Given the description of an element on the screen output the (x, y) to click on. 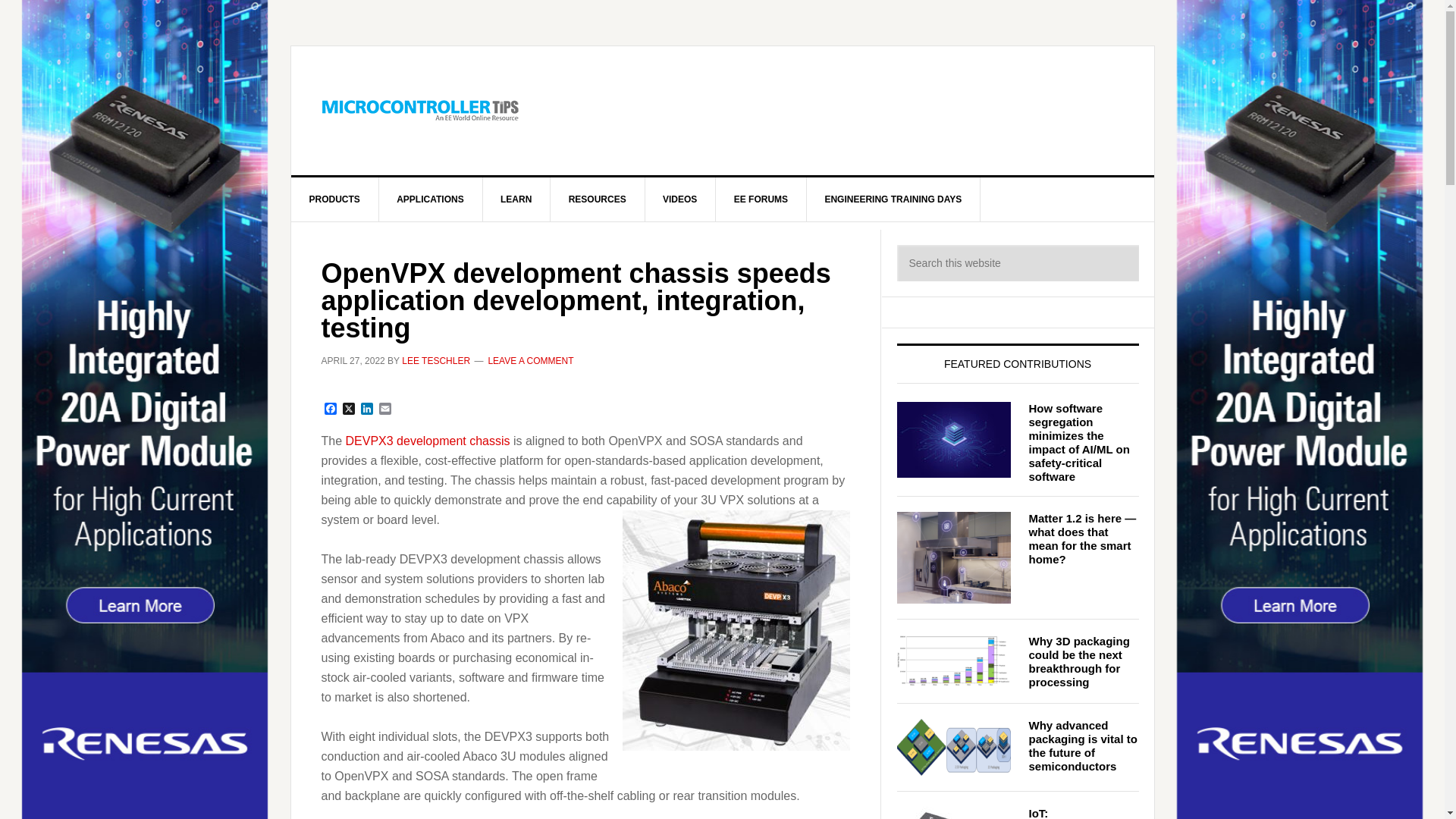
PRODUCTS (334, 199)
LinkedIn (366, 409)
Email (384, 409)
LEARN (515, 199)
Facebook (330, 409)
X (348, 409)
MICROCONTROLLER TIPS (419, 110)
APPLICATIONS (429, 199)
3rd party ad content (848, 110)
RESOURCES (597, 199)
